Given the description of an element on the screen output the (x, y) to click on. 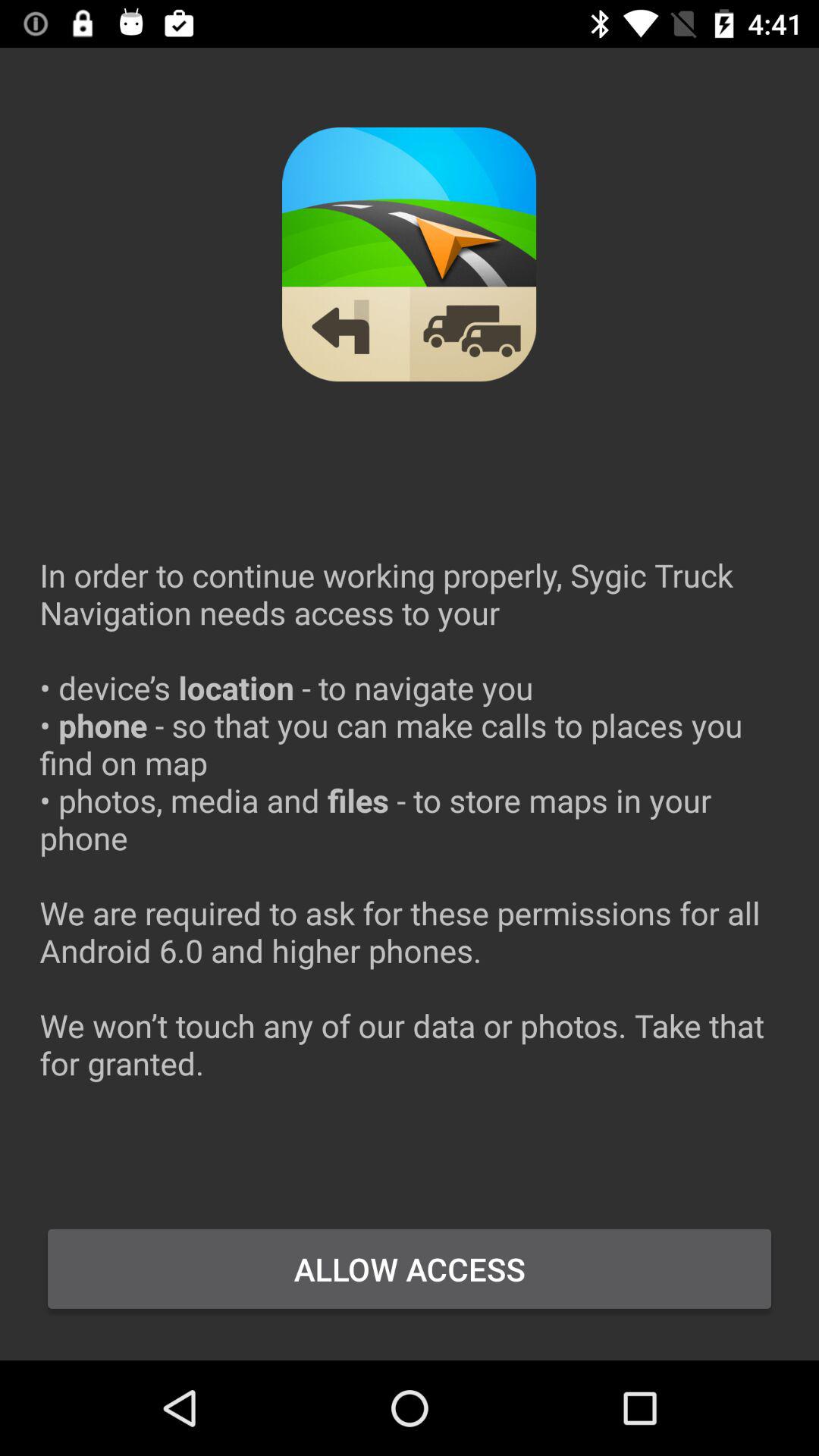
select item below in order to item (409, 1268)
